Given the description of an element on the screen output the (x, y) to click on. 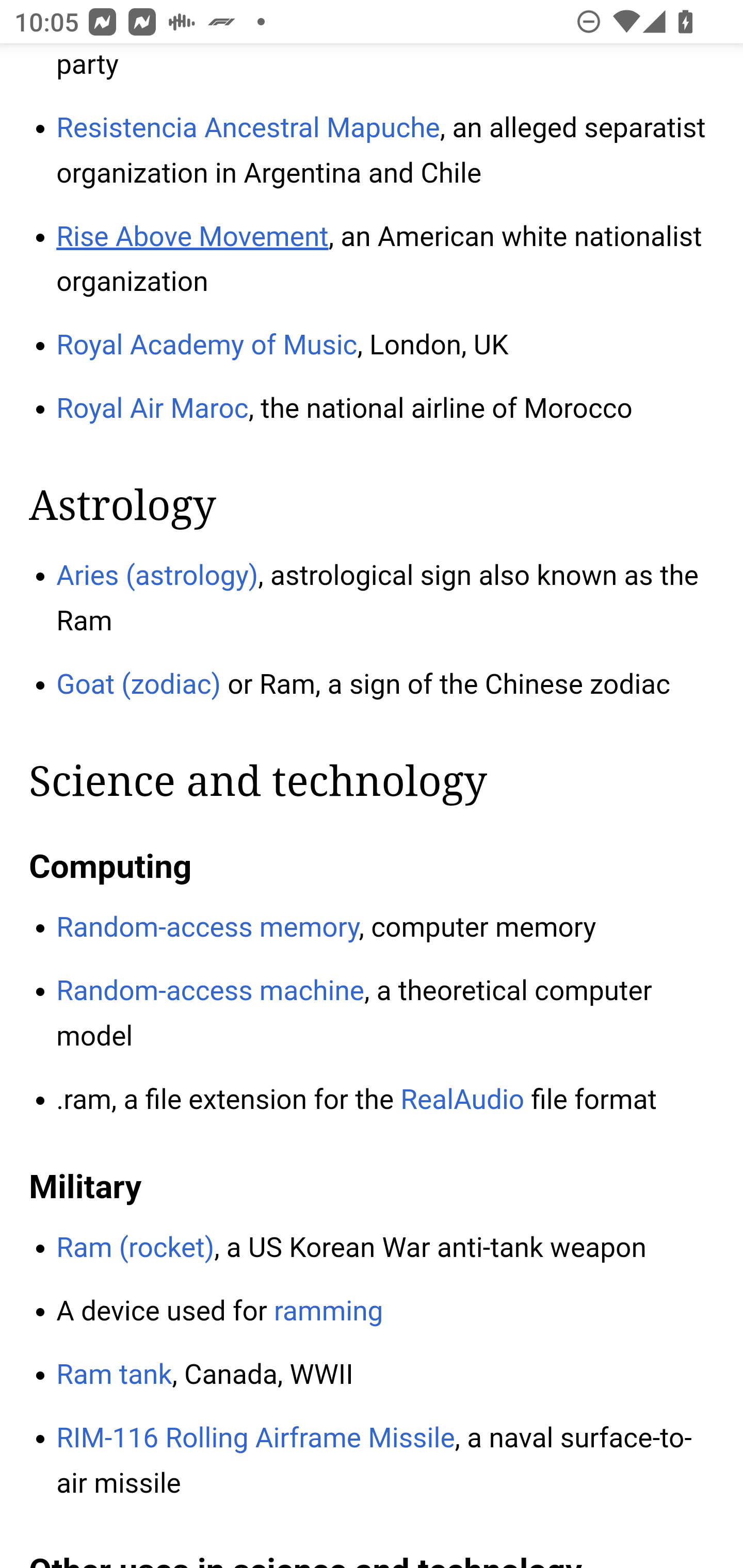
Resistencia Ancestral Mapuche (247, 128)
Rise Above Movement (192, 236)
Royal Academy of Music (206, 347)
Royal Air Maroc (151, 409)
Aries (astrology) (157, 576)
Goat (zodiac) (138, 684)
Random-access memory (206, 928)
Random-access machine (210, 991)
RealAudio (461, 1099)
Ram (rocket) (134, 1249)
ramming (328, 1312)
Ram tank (114, 1376)
RIM-116 Rolling Airframe Missile (255, 1439)
